Given the description of an element on the screen output the (x, y) to click on. 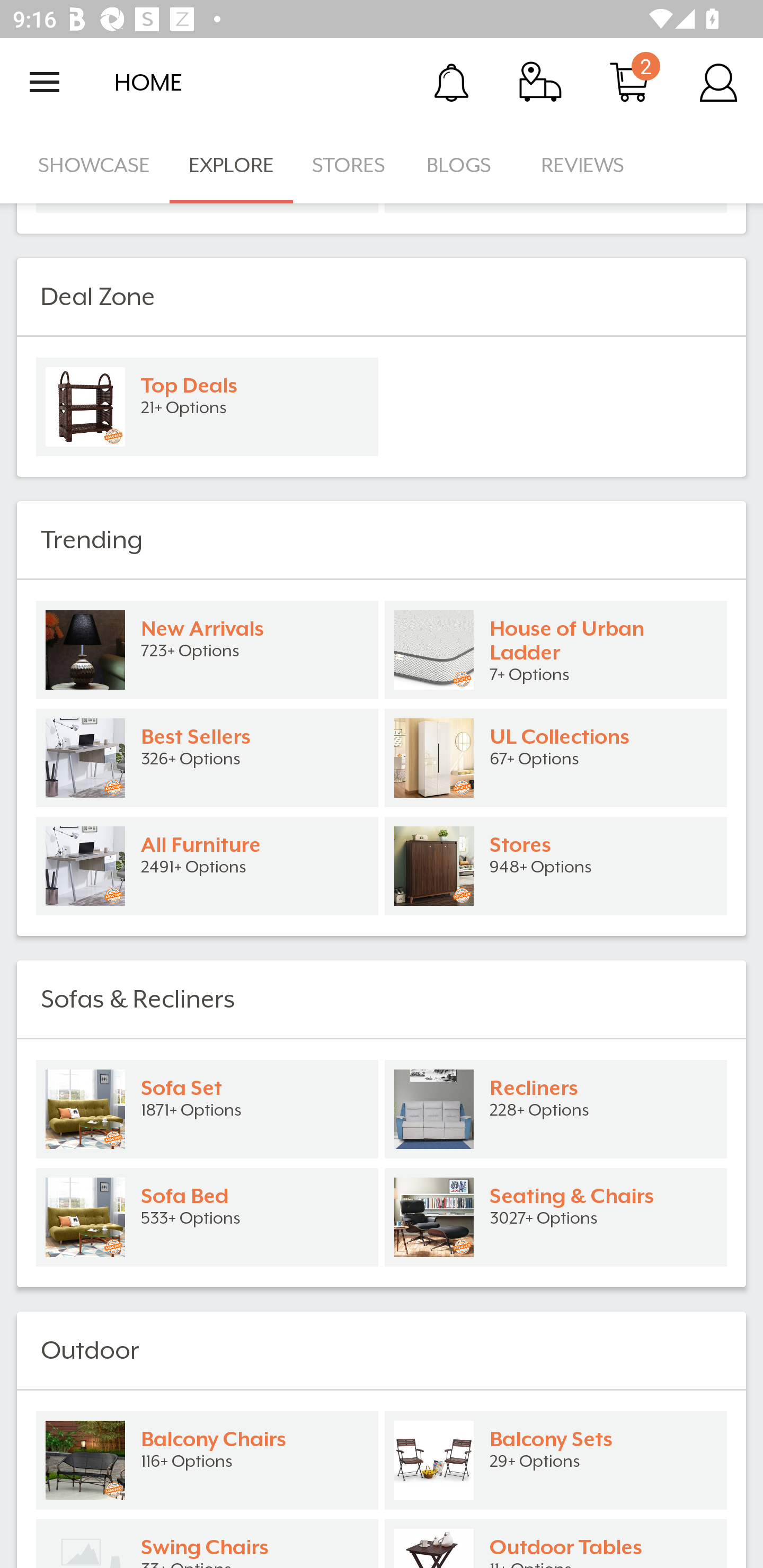
Open navigation drawer (44, 82)
Notification (450, 81)
Track Order (540, 81)
Cart (629, 81)
Account Details (718, 81)
SHOWCASE (94, 165)
EXPLORE (230, 165)
STORES (349, 165)
BLOGS (464, 165)
REVIEWS (582, 165)
Top Deals 21+ Options (206, 406)
New Arrivals 723+ Options (206, 649)
House of Urban Ladder 7+ Options (555, 649)
Best Sellers 326+ Options (206, 758)
UL Collections 67+ Options (555, 758)
All Furniture 2491+ Options (206, 866)
Stores 948+ Options (555, 866)
Sofa Set 1871+ Options (206, 1109)
Recliners 228+ Options (555, 1109)
Sofa Bed 533+ Options (206, 1217)
Seating & Chairs 3027+ Options (555, 1217)
Balcony Chairs 116+ Options (206, 1460)
Balcony Sets 29+ Options (555, 1460)
Swing Chairs 33+ Options (206, 1541)
Outdoor Tables 11+ Options (555, 1541)
